Given the description of an element on the screen output the (x, y) to click on. 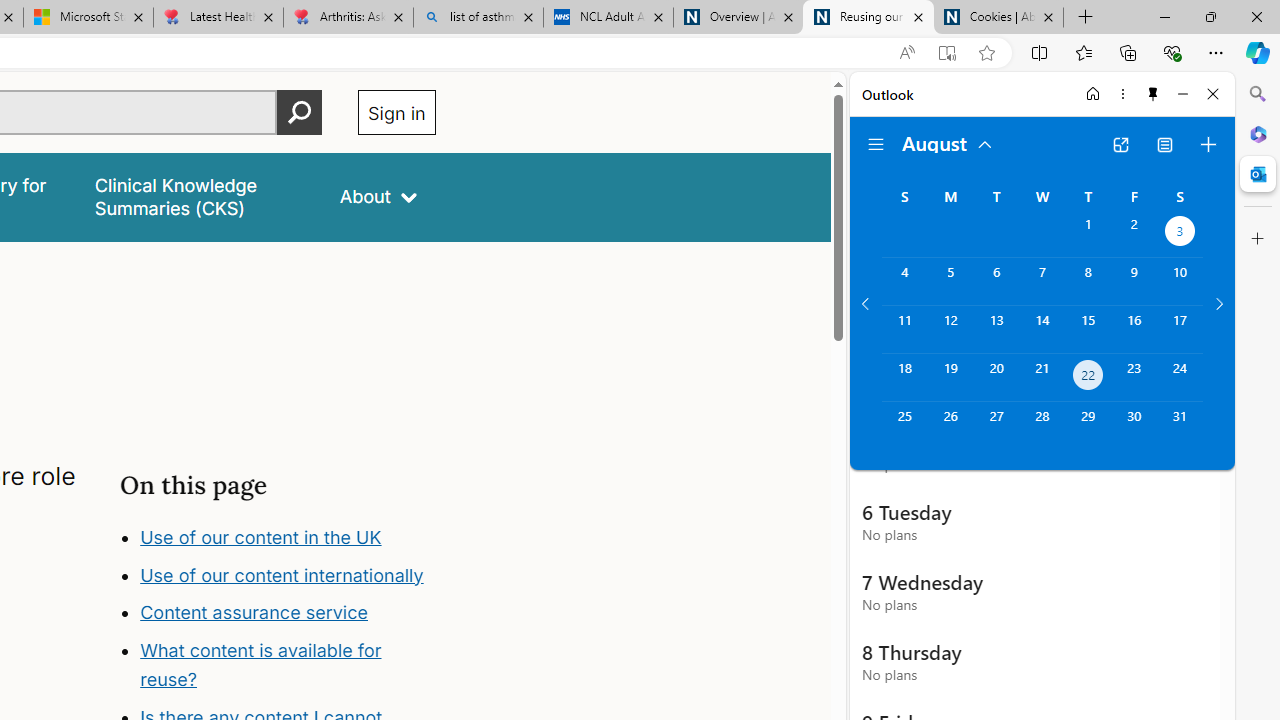
Friday, August 16, 2024.  (1134, 329)
Friday, August 30, 2024.  (1134, 425)
Saturday, August 10, 2024.  (1180, 281)
Thursday, August 29, 2024.  (1088, 425)
Saturday, August 24, 2024.  (1180, 377)
